Given the description of an element on the screen output the (x, y) to click on. 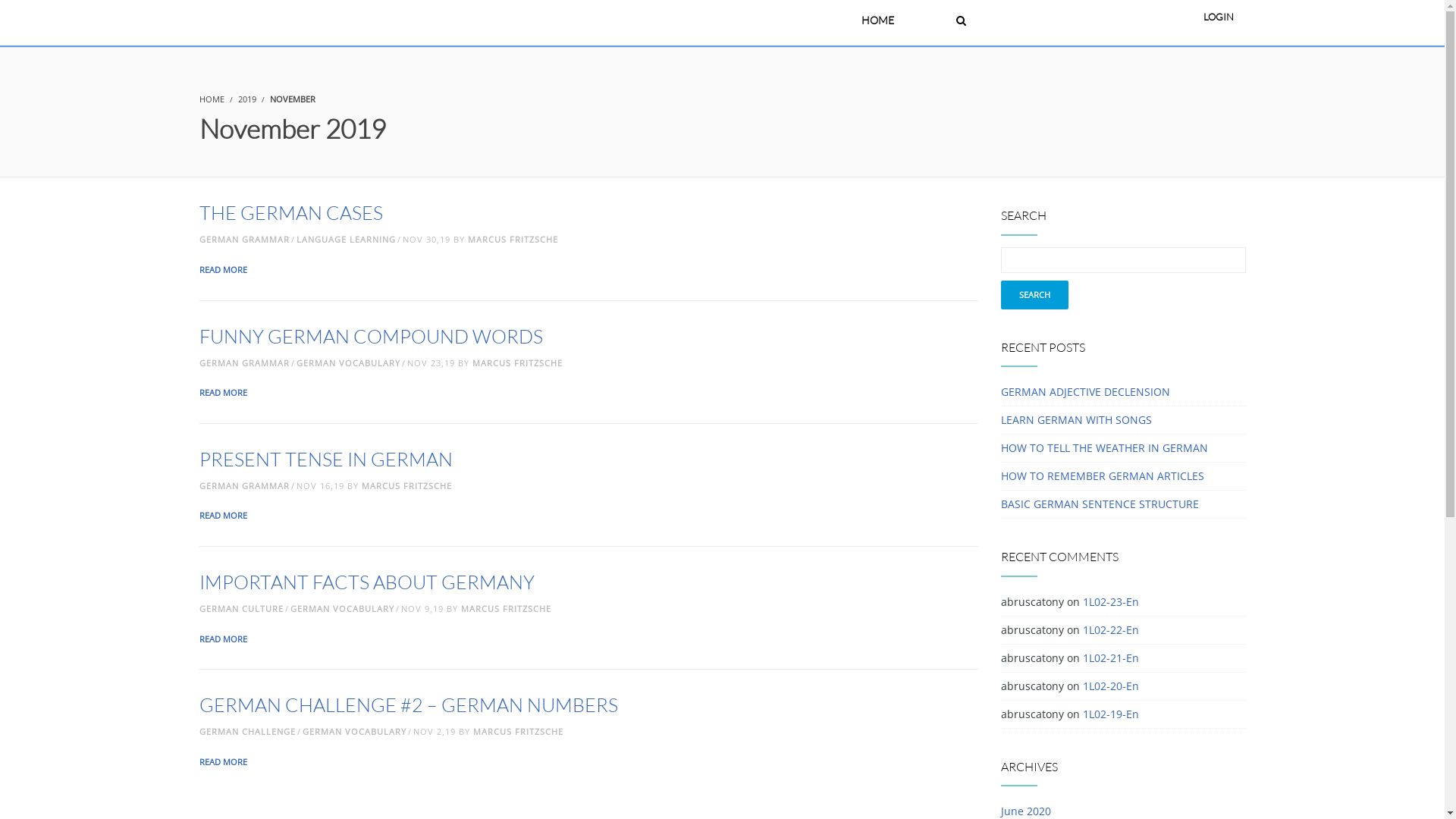
FUNNY GERMAN COMPOUND WORDS Element type: text (370, 336)
GERMAN GRAMMAR Element type: text (243, 485)
GERMAN GRAMMAR Element type: text (243, 362)
GERMAN VOCABULARY Element type: text (347, 362)
HOW TO REMEMBER GERMAN ARTICLES Element type: text (1102, 475)
2019 Element type: text (247, 98)
1L02-23-En Element type: text (1110, 601)
HOME Element type: text (210, 98)
MARCUS FRITZSCHE Element type: text (506, 608)
LANGUAGE LEARNING Element type: text (345, 238)
Es Element type: hover (924, 19)
READ MORE Element type: text (224, 392)
1L02-20-En Element type: text (1110, 685)
IMPORTANT FACTS ABOUT GERMANY Element type: text (365, 581)
READ MORE Element type: text (224, 269)
MARCUS FRITZSCHE Element type: text (516, 362)
READ MORE Element type: text (224, 638)
GERMAN ADJECTIVE DECLENSION Element type: text (1085, 391)
HOME Element type: text (877, 19)
GERMAN VOCABULARY Element type: text (341, 608)
1L02-21-En Element type: text (1110, 657)
HOW TO TELL THE WEATHER IN GERMAN Element type: text (1104, 447)
1L02-22-En Element type: text (1110, 629)
Search Element type: text (1034, 294)
READ MORE Element type: text (224, 514)
GERMAN CULTURE Element type: text (240, 608)
LOGIN Element type: text (1217, 18)
THE GERMAN CASES Element type: text (290, 212)
BASIC GERMAN SENTENCE STRUCTURE Element type: text (1099, 503)
GERMAN VOCABULARY Element type: text (353, 731)
GERMAN CHALLENGE Element type: text (246, 731)
PRESENT TENSE IN GERMAN Element type: text (324, 458)
GERMAN GRAMMAR Element type: text (243, 238)
READ MORE Element type: text (224, 761)
1L02-19-En Element type: text (1110, 713)
LEARN GERMAN WITH SONGS Element type: text (1076, 419)
June 2020 Element type: text (1026, 810)
MARCUS FRITZSCHE Element type: text (518, 731)
MARCUS FRITZSCHE Element type: text (405, 485)
MARCUS FRITZSCHE Element type: text (512, 238)
